Given the description of an element on the screen output the (x, y) to click on. 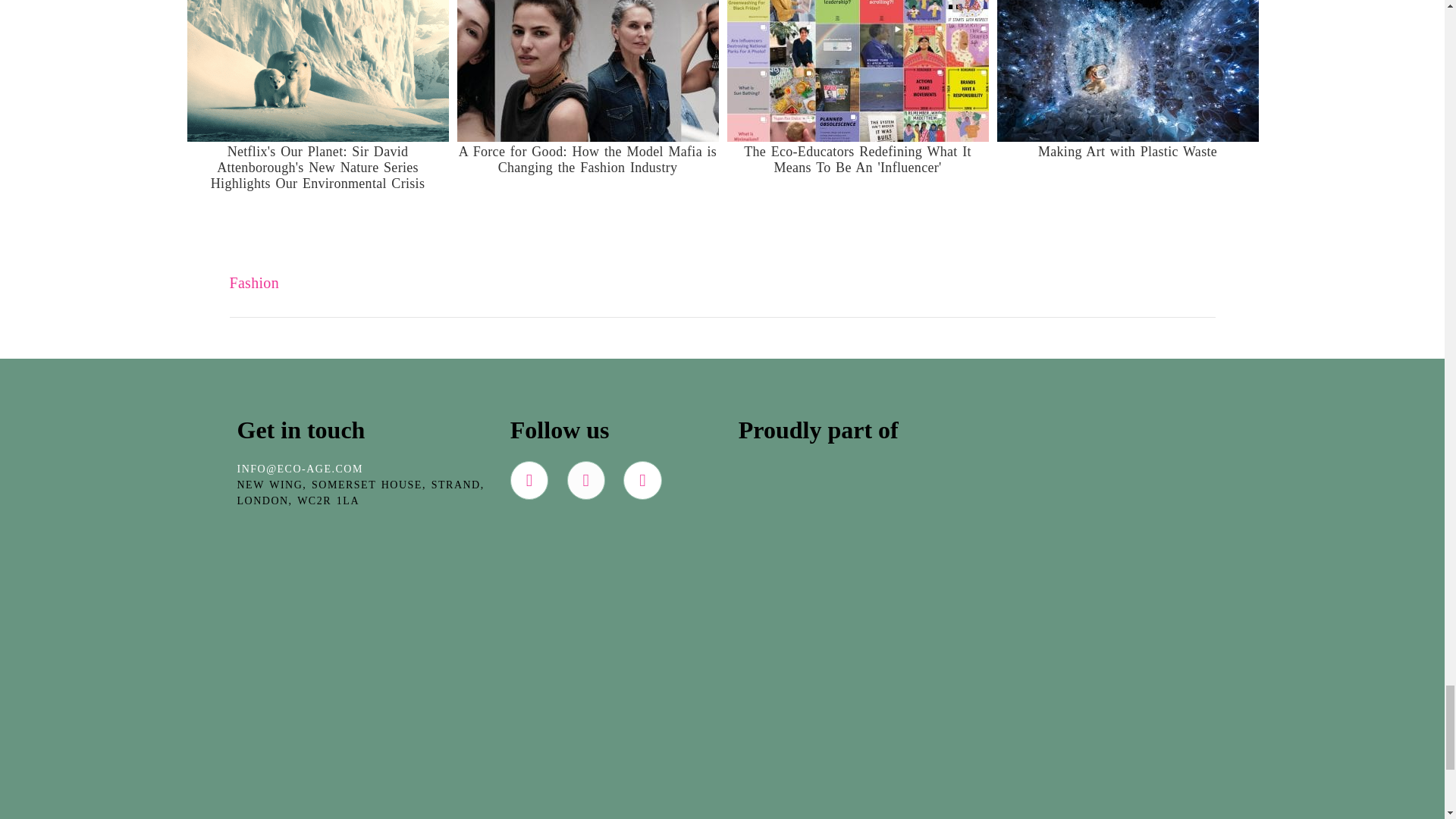
Making Art with Plastic Waste (1126, 101)
Fashion (253, 282)
